Given the description of an element on the screen output the (x, y) to click on. 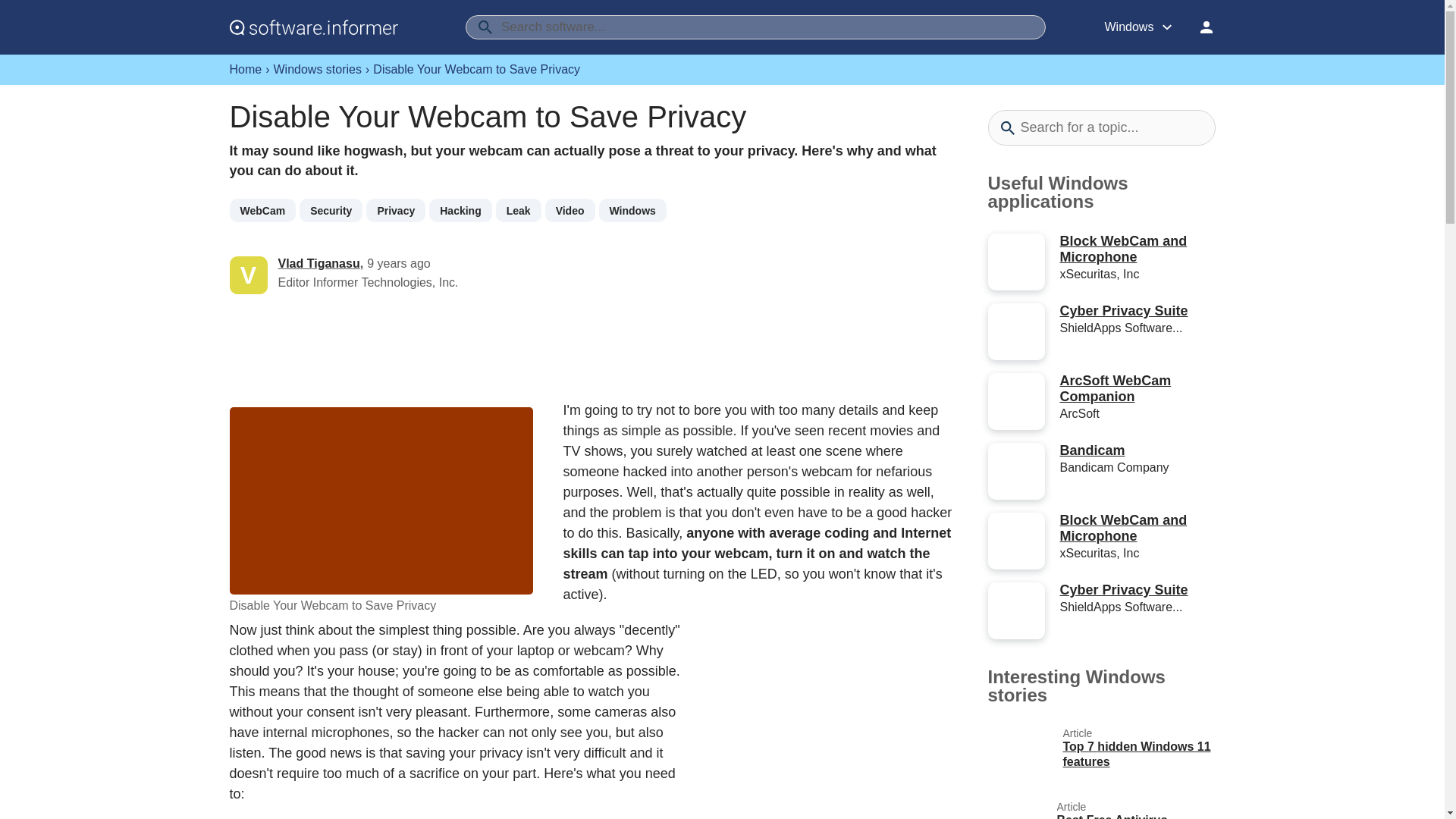
Windows (632, 210)
WebCam (261, 210)
Leak (518, 210)
Windows stories (317, 69)
Home (245, 69)
Cyber Privacy Suite (1123, 310)
Search software... (755, 27)
Privacy (395, 210)
Video (569, 210)
